Given the description of an element on the screen output the (x, y) to click on. 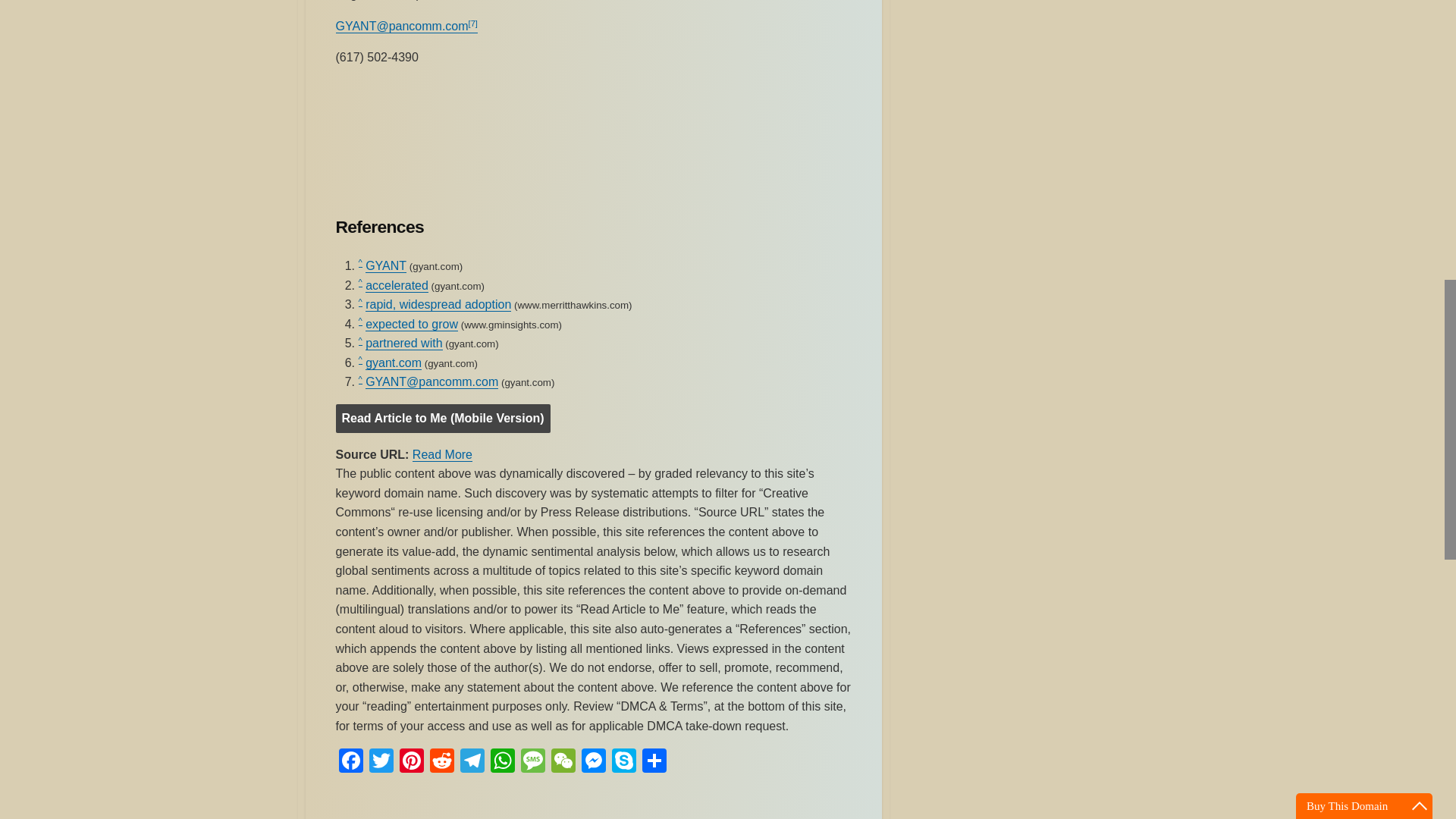
partnered with (403, 342)
Advertisement (592, 143)
gyant.com (393, 362)
Twitter (380, 762)
Messenger (593, 762)
Read More (441, 454)
Facebook (349, 762)
Share (653, 762)
WeChat (562, 762)
Pinterest (411, 762)
GYANT (385, 265)
Message (531, 762)
WhatsApp (501, 762)
expected to grow (411, 323)
Reddit (441, 762)
